Given the description of an element on the screen output the (x, y) to click on. 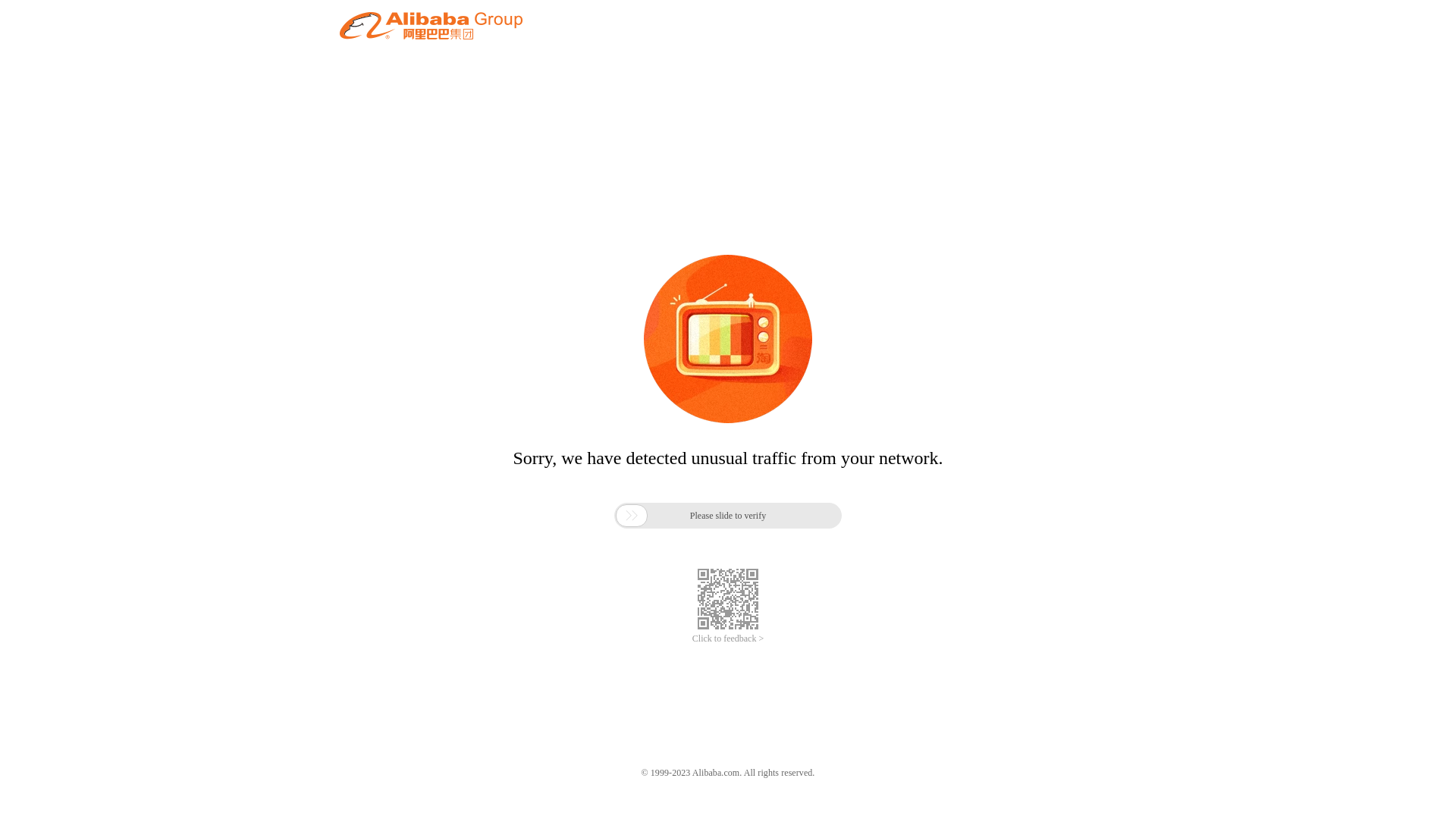
Click to feedback > Element type: text (727, 638)
